Given the description of an element on the screen output the (x, y) to click on. 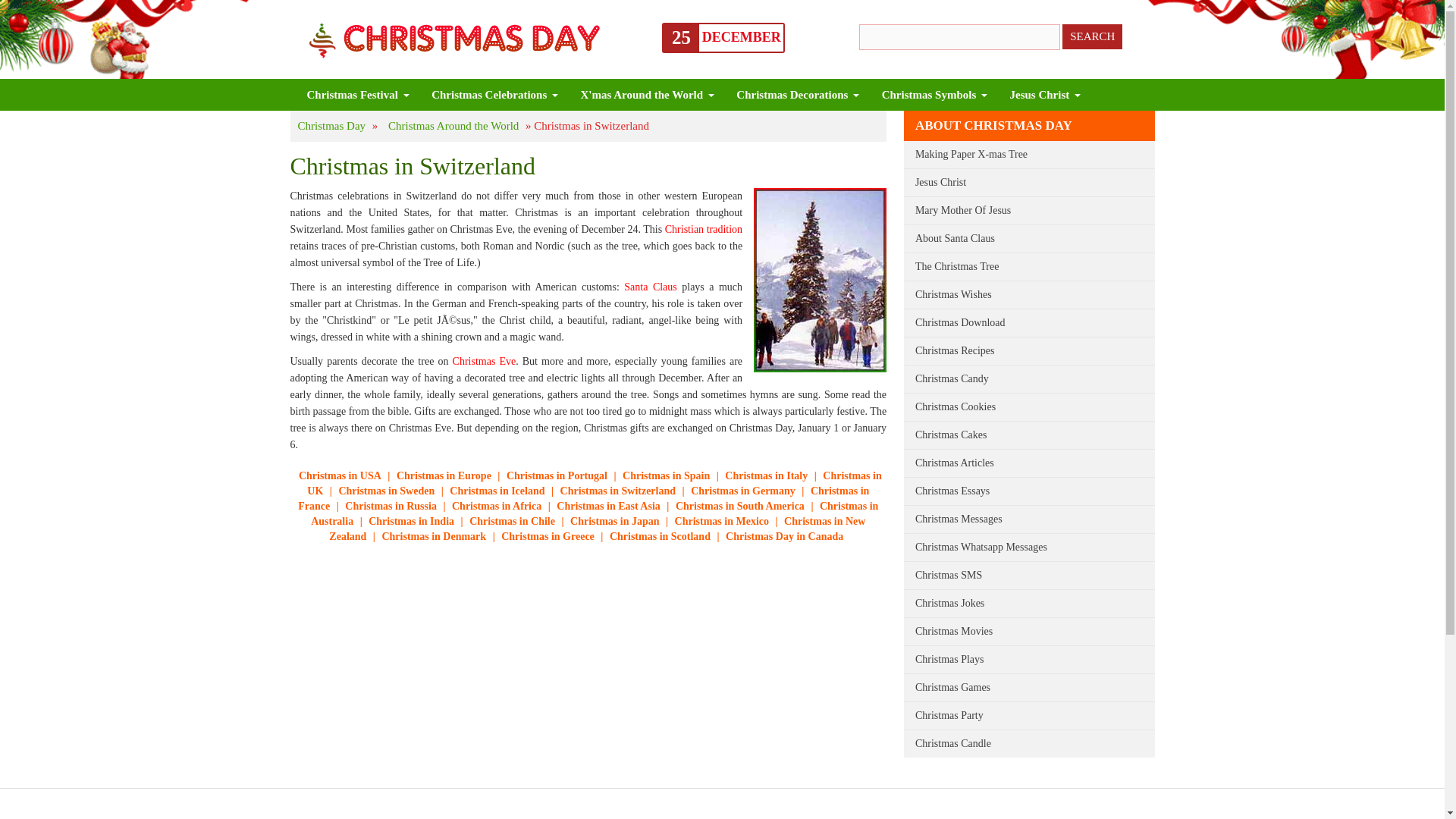
Christmas Celebrations (488, 94)
Search (1092, 36)
X'mas Around the World (641, 94)
Christmas Festival (351, 94)
Search (1092, 36)
